Given the description of an element on the screen output the (x, y) to click on. 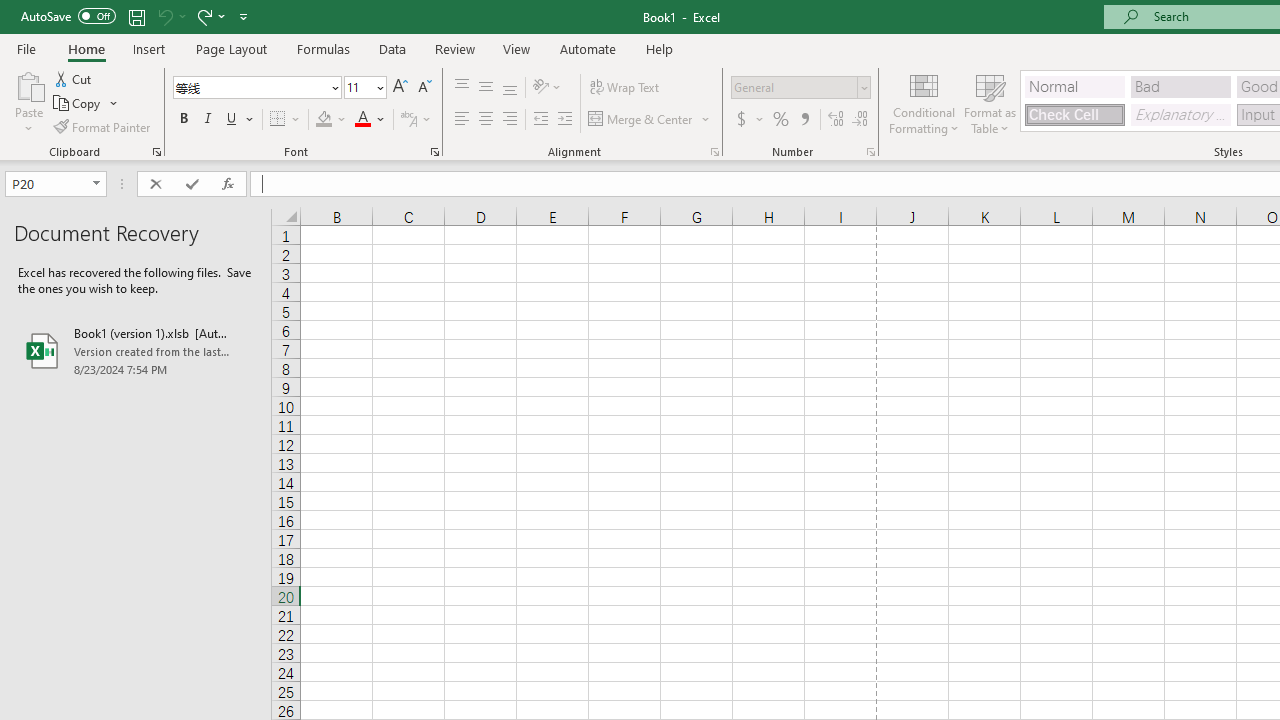
Fill Color (331, 119)
Open (96, 183)
Merge & Center (649, 119)
Increase Indent (565, 119)
Bottom Border (278, 119)
Percent Style (781, 119)
Bad (1180, 86)
Font Color RGB(255, 0, 0) (362, 119)
Explanatory Text (1180, 114)
Accounting Number Format (749, 119)
Formulas (323, 48)
Insert (149, 48)
